Given the description of an element on the screen output the (x, y) to click on. 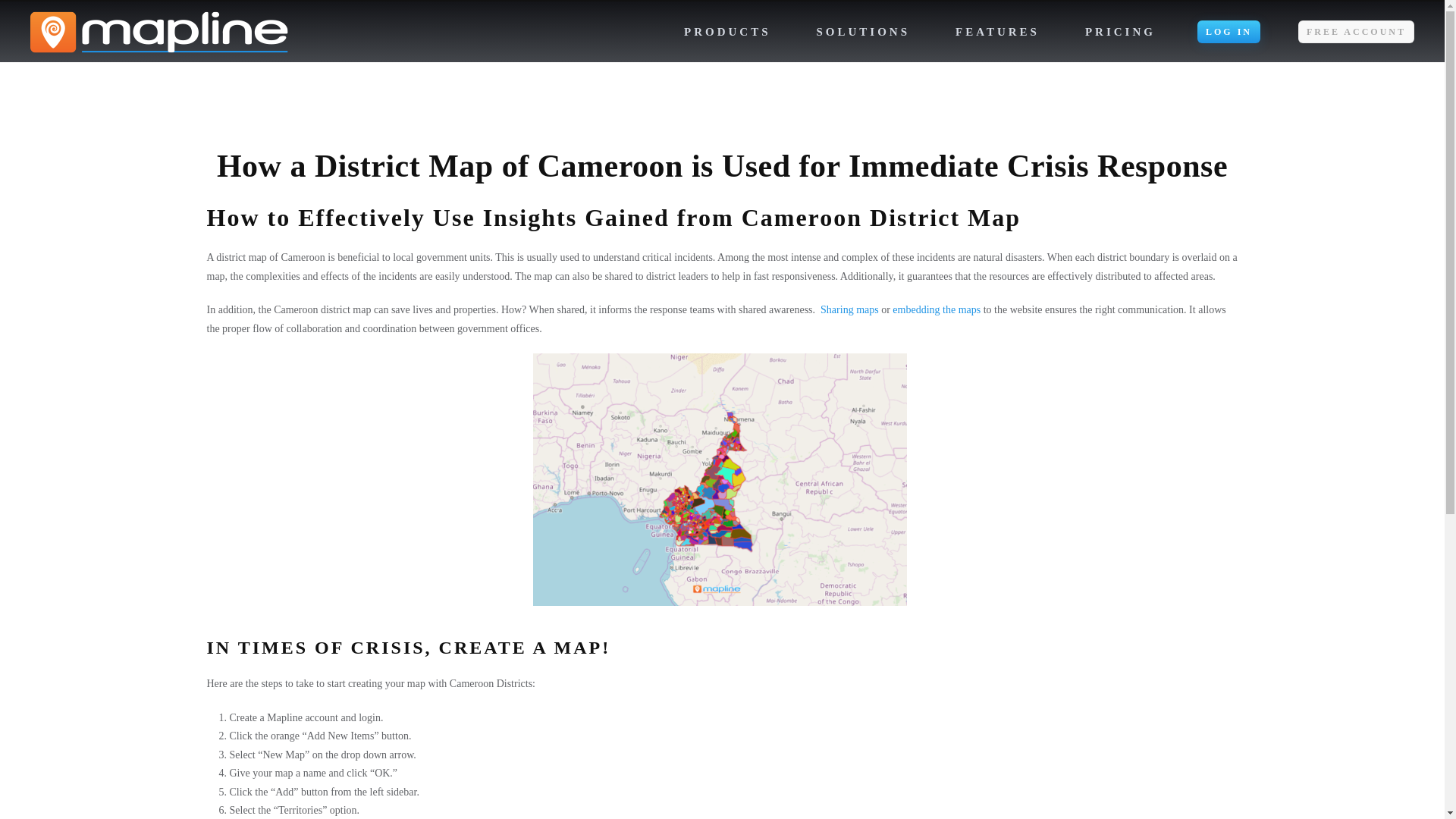
FREE ACCOUNT (1355, 31)
SOLUTIONS (863, 31)
LOG IN (1228, 31)
embedding the maps (935, 309)
PRICING (1120, 31)
FEATURES (997, 31)
Sharing maps (850, 309)
PRODUCTS (727, 31)
